Given the description of an element on the screen output the (x, y) to click on. 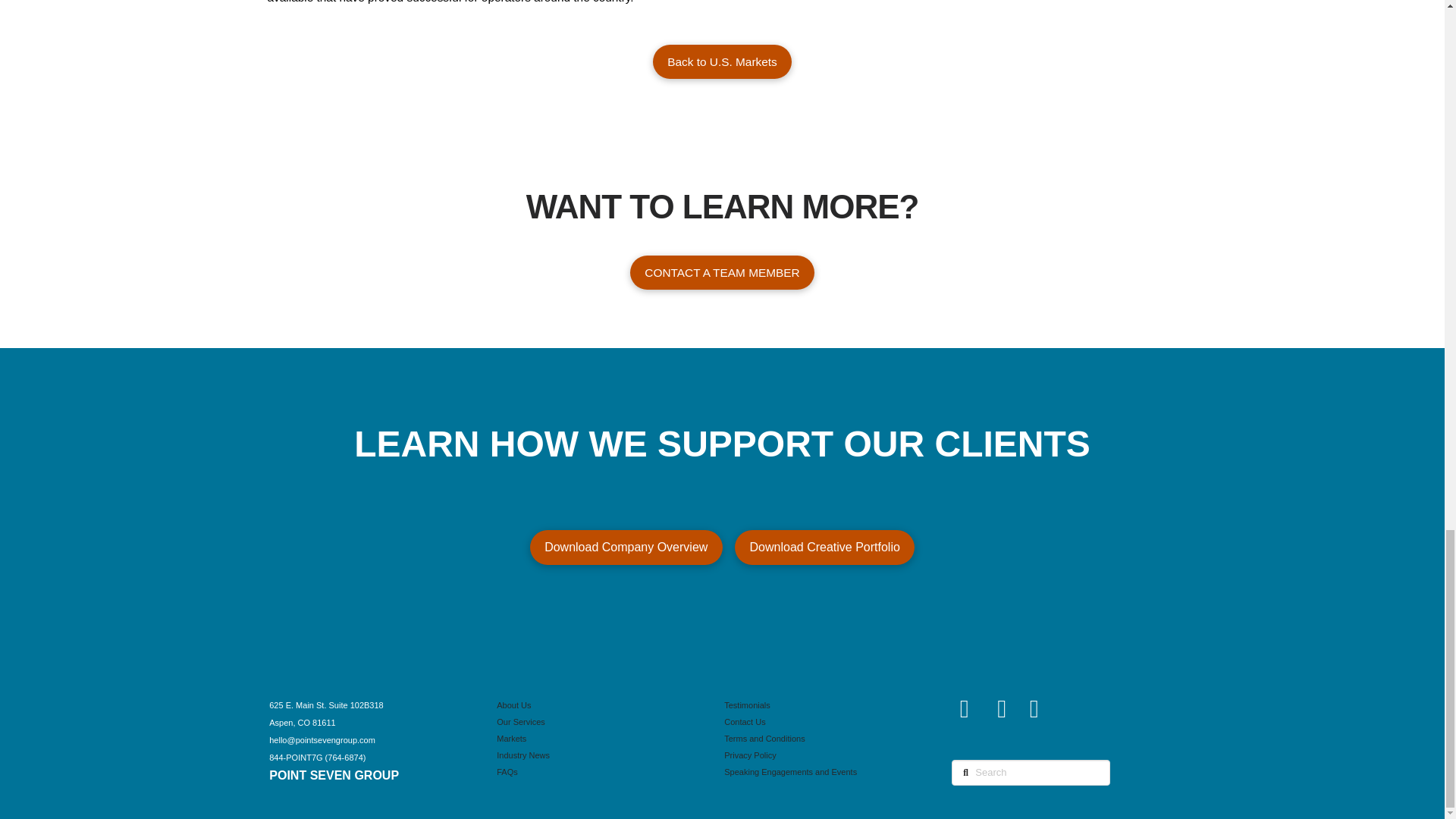
Download Creative Portfolio (825, 547)
Download Company Overview (625, 547)
CONTACT A TEAM MEMBER (721, 272)
Back to U.S. Markets (722, 61)
